Given the description of an element on the screen output the (x, y) to click on. 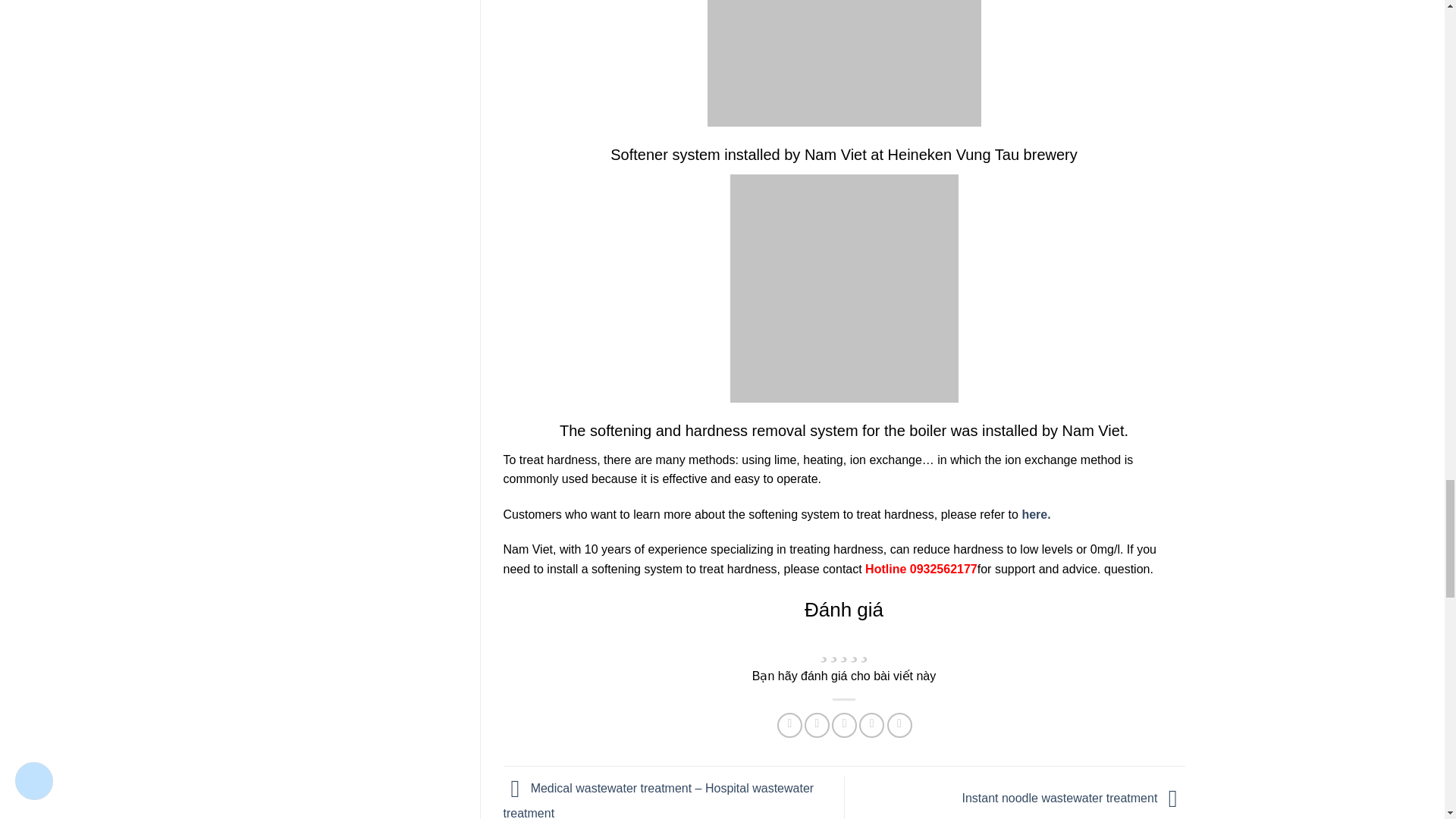
Pin on Pinterest (871, 724)
Share on LinkedIn (899, 724)
Share on Twitter (817, 724)
here. (1035, 513)
Email to a Friend (844, 724)
Share on Facebook (789, 724)
